Given the description of an element on the screen output the (x, y) to click on. 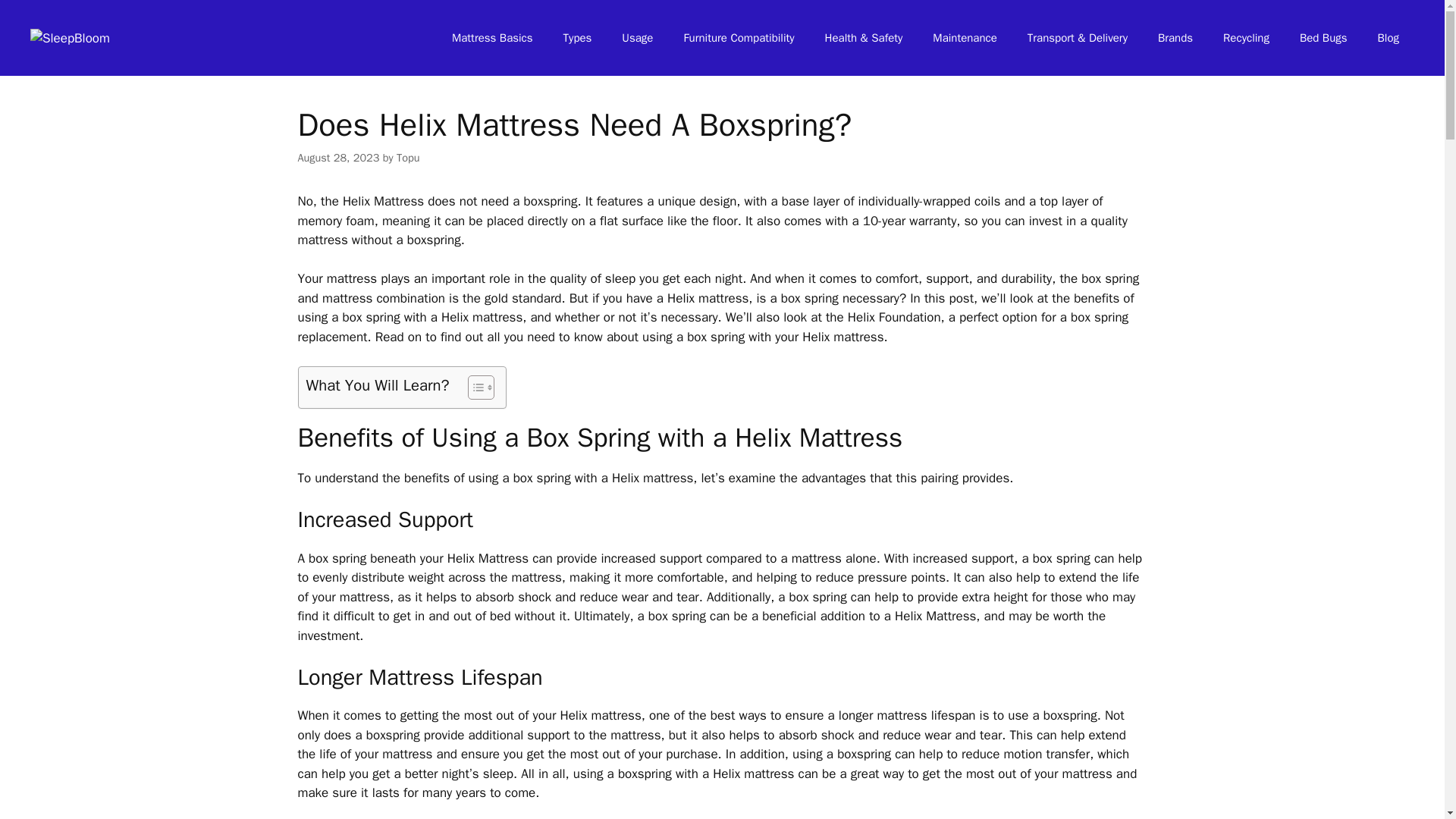
Bed Bugs (1323, 37)
Mattress Basics (492, 37)
View all posts by Topu (408, 157)
Recycling (1246, 37)
Types (577, 37)
Blog (1387, 37)
Usage (637, 37)
Furniture Compatibility (738, 37)
Topu (408, 157)
Brands (1175, 37)
